Given the description of an element on the screen output the (x, y) to click on. 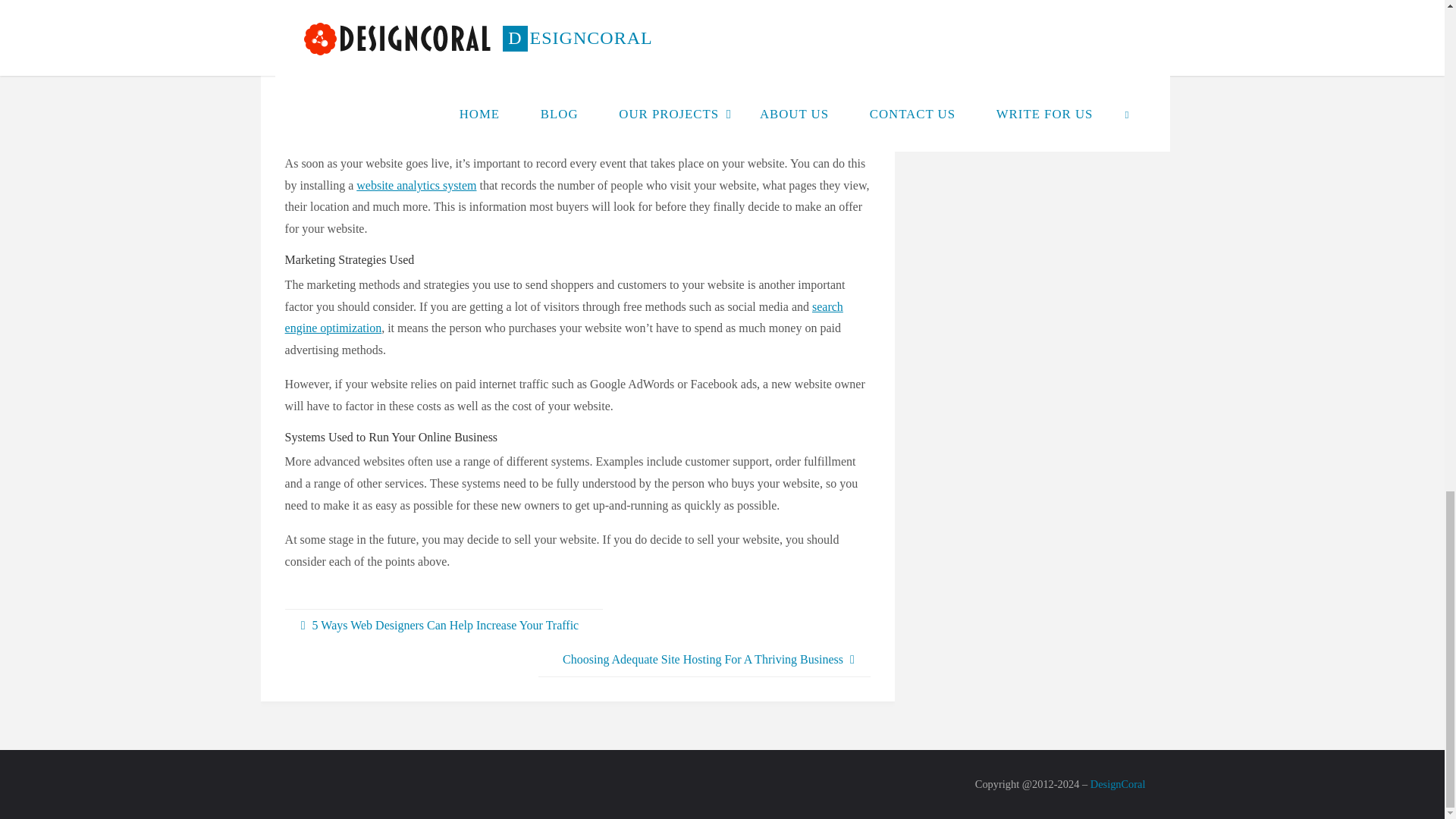
search engine optimization (564, 317)
5 Ways Web Designers Can Help Increase Your Traffic (444, 625)
Choosing Adequate Site Hosting For A Thriving Business (704, 659)
website analytics system (416, 185)
